Given the description of an element on the screen output the (x, y) to click on. 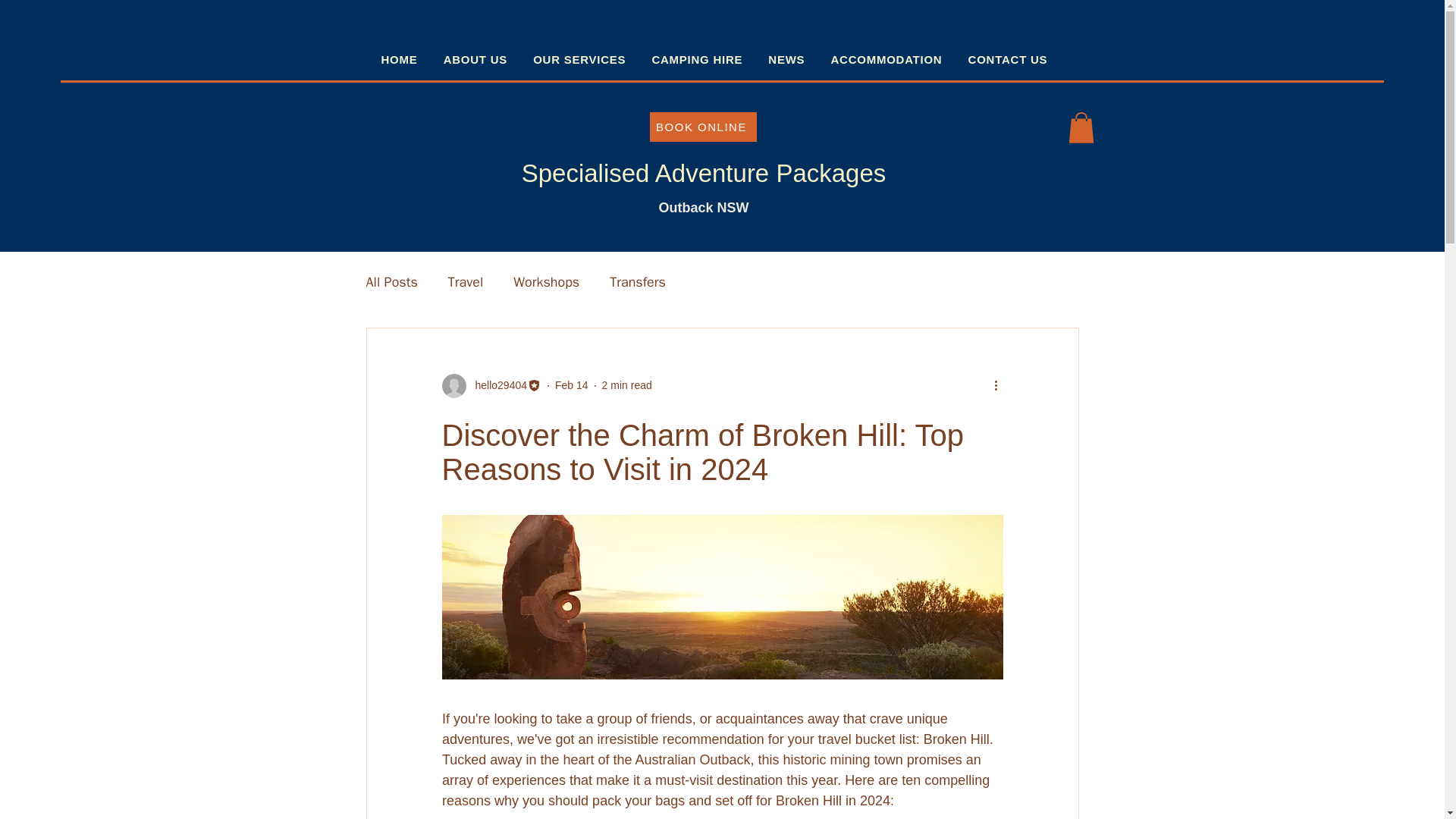
Transfers (637, 281)
hello29404 (496, 385)
2 min read (627, 385)
NEWS (793, 59)
CAMPING HIRE (703, 59)
All Posts (390, 281)
Travel (465, 281)
Feb 14 (571, 385)
ABOUT US (483, 59)
CONTACT US (1015, 59)
